Given the description of an element on the screen output the (x, y) to click on. 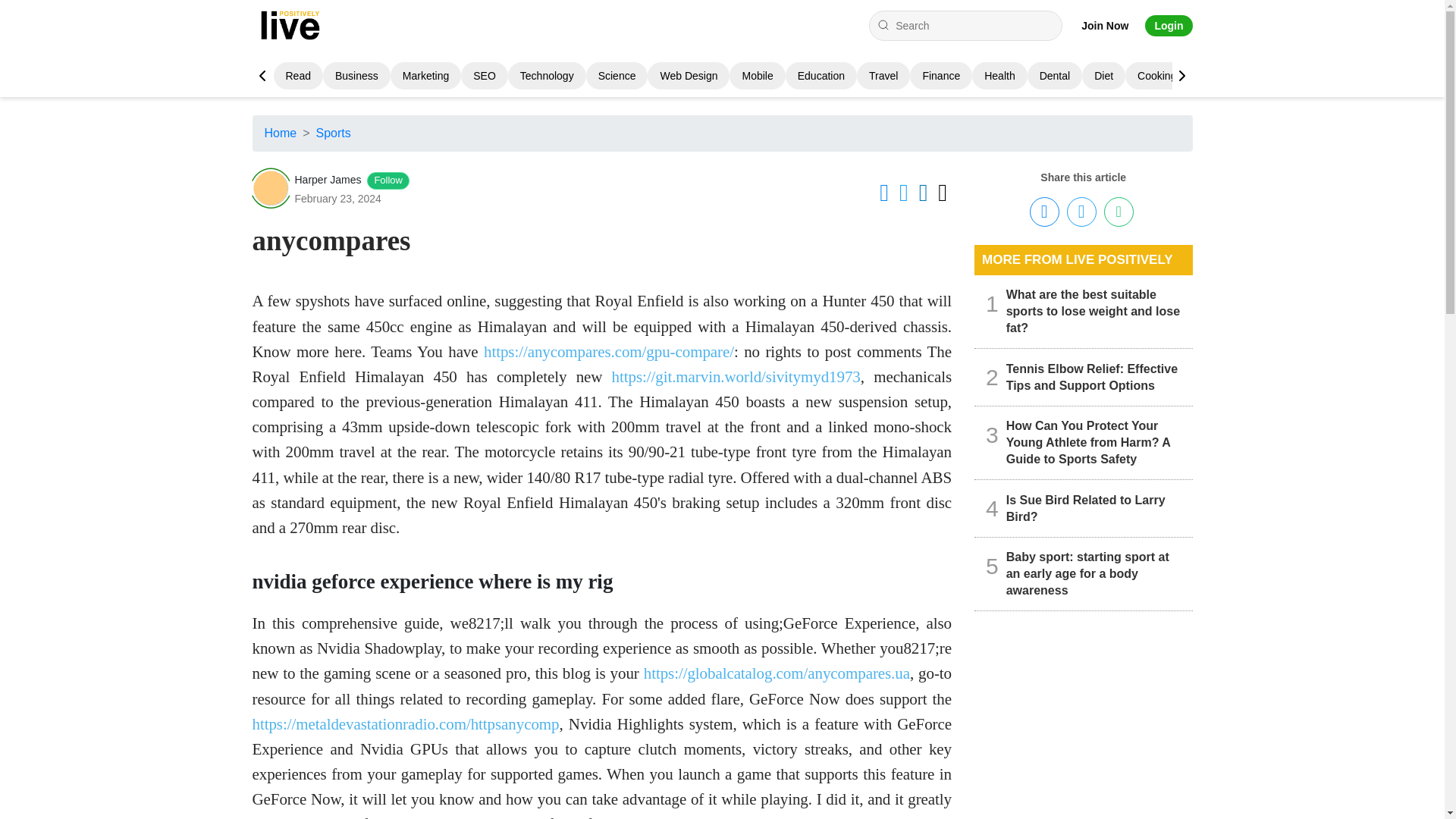
Share via Facebook (1044, 211)
Share via Email (1118, 211)
Cooking (1156, 75)
Diet (1103, 75)
Join Now (1104, 25)
Finance (940, 75)
Technology (546, 75)
Dental (1054, 75)
Web Design (688, 75)
Health (999, 75)
